Given the description of an element on the screen output the (x, y) to click on. 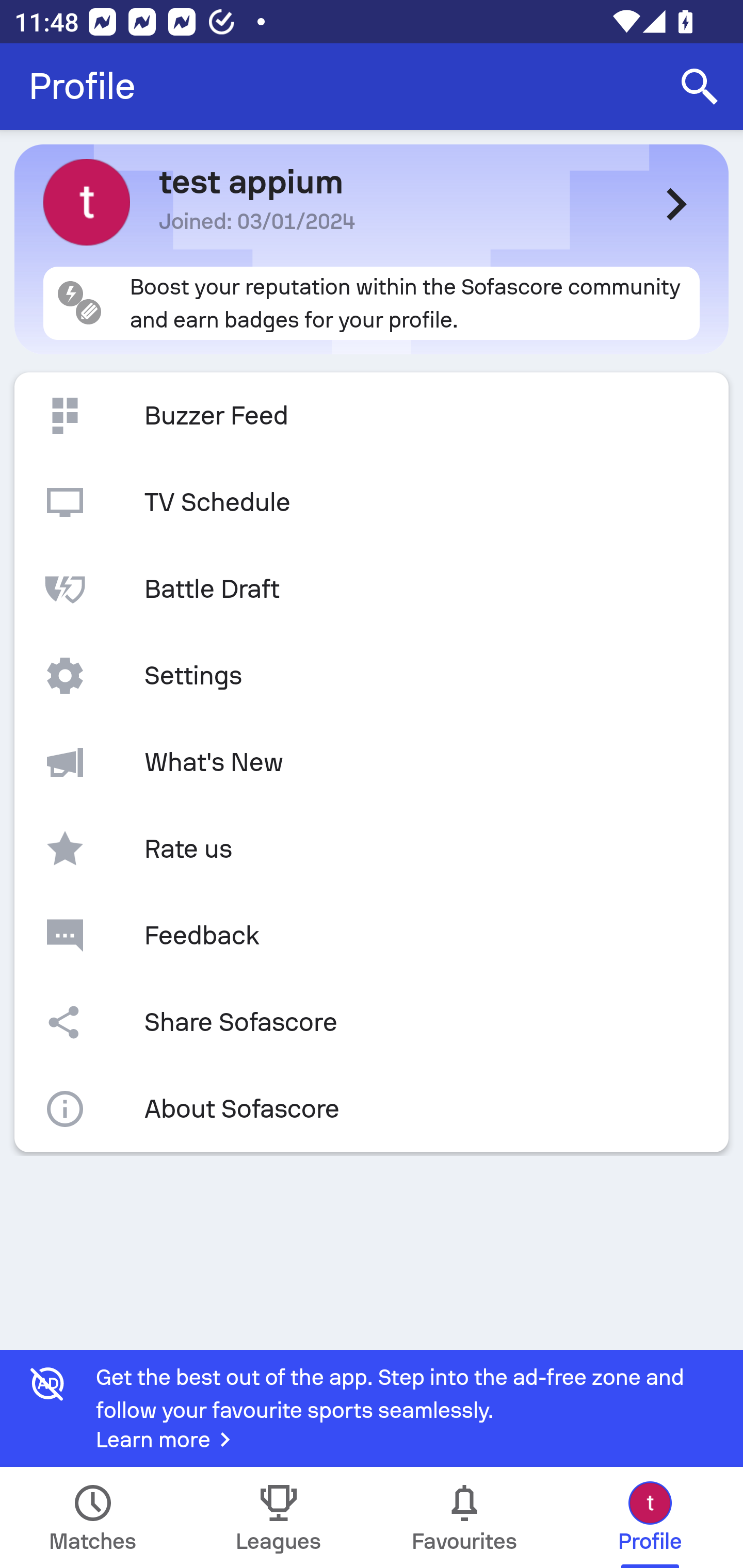
Profile (81, 86)
Search (699, 86)
Buzzer Feed (371, 416)
TV Schedule (371, 502)
Battle Draft (371, 588)
Settings (371, 675)
What's New (371, 762)
Rate us (371, 848)
Feedback (371, 935)
Share Sofascore (371, 1022)
About Sofascore (371, 1109)
Matches (92, 1517)
Leagues (278, 1517)
Favourites (464, 1517)
